Given the description of an element on the screen output the (x, y) to click on. 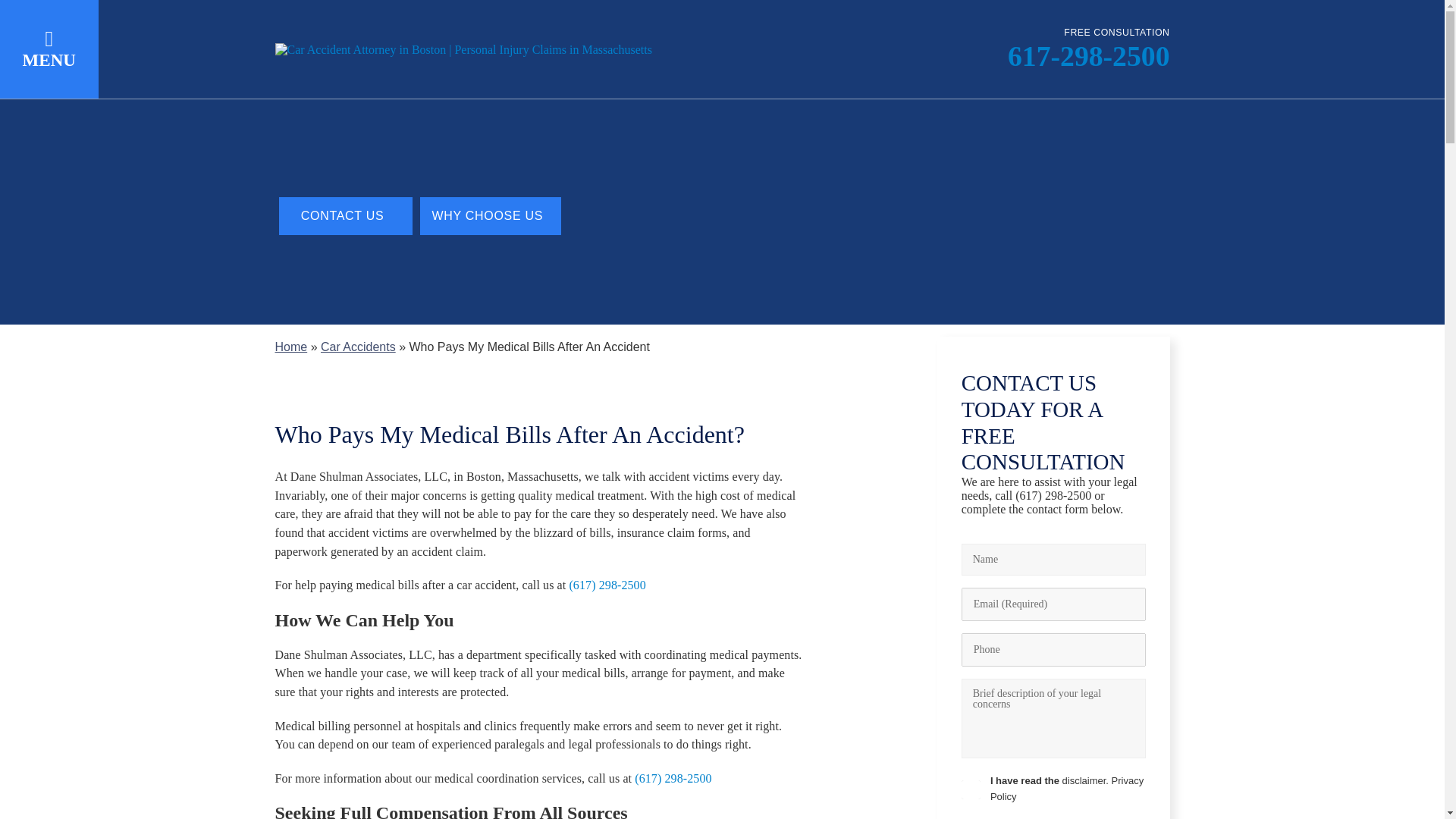
MENU (48, 49)
617-298-2500 (1088, 56)
